Given the description of an element on the screen output the (x, y) to click on. 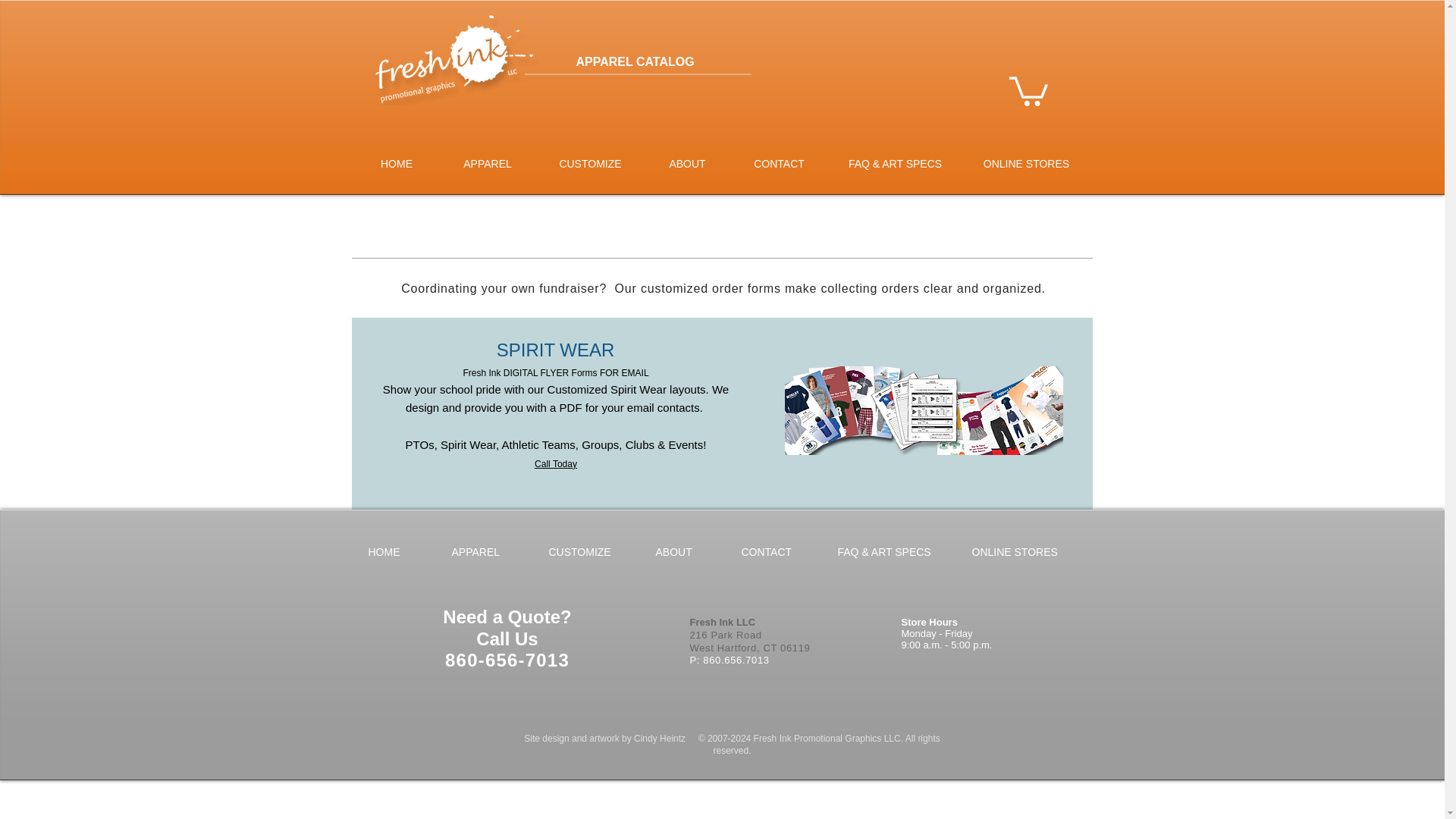
CONTACT (779, 163)
Call Today (555, 462)
APPAREL CATALOG (686, 62)
HOME (397, 552)
CUSTOMIZE (590, 552)
translogo.png (454, 58)
ABOUT (687, 552)
CONTACT (777, 552)
ABOUT (687, 163)
CUSTOMIZE (591, 163)
HOME (397, 163)
ONLINE STORES (1022, 552)
ONLINE STORES (1026, 163)
APPAREL (488, 552)
APPAREL (486, 163)
